Given the description of an element on the screen output the (x, y) to click on. 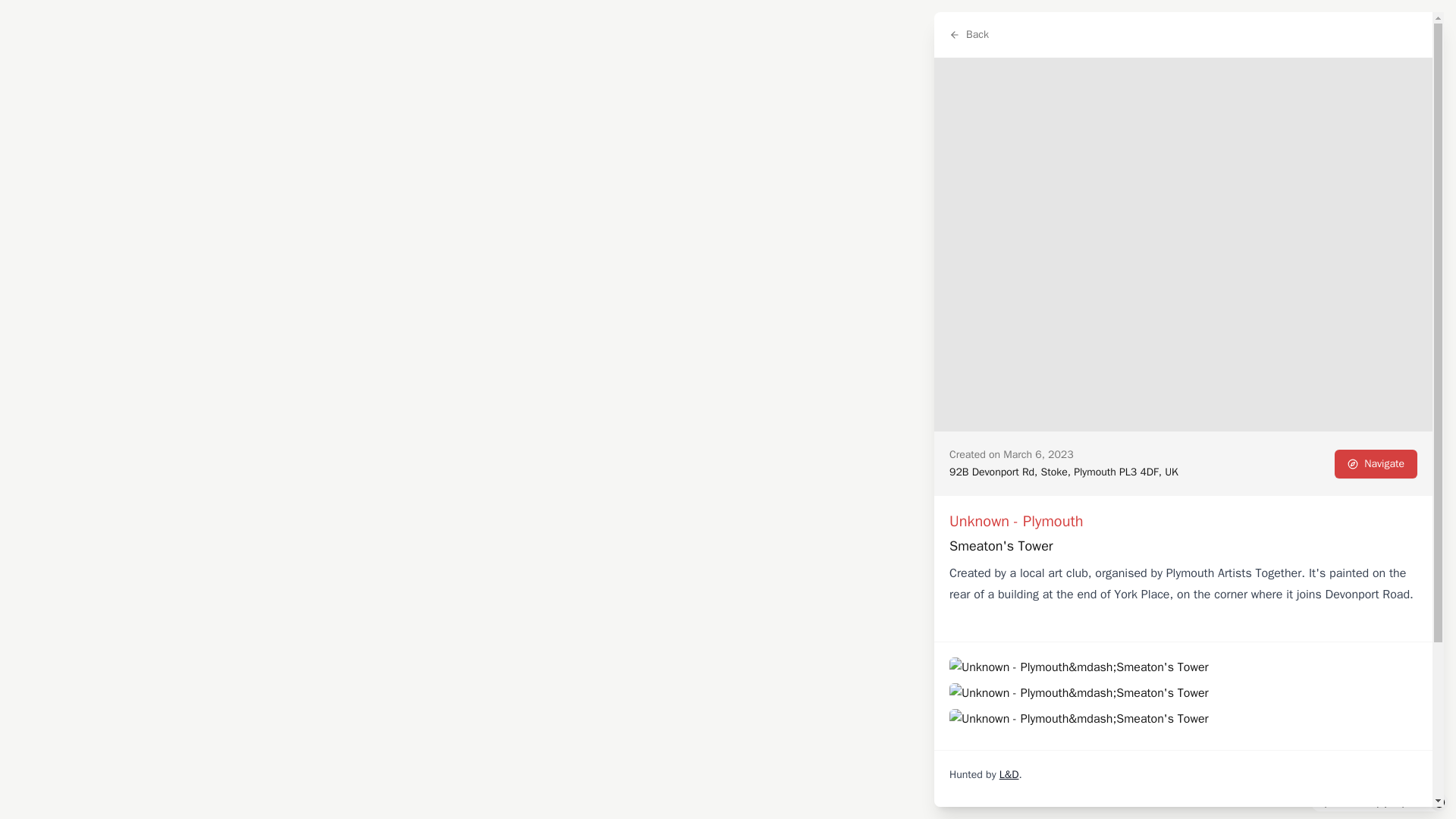
MapLibre (1407, 801)
Back (969, 34)
Toggle attribution (1438, 802)
Unknown - Plymouth (1016, 520)
OpenStreetMap (1349, 801)
Navigate (1375, 462)
